Given the description of an element on the screen output the (x, y) to click on. 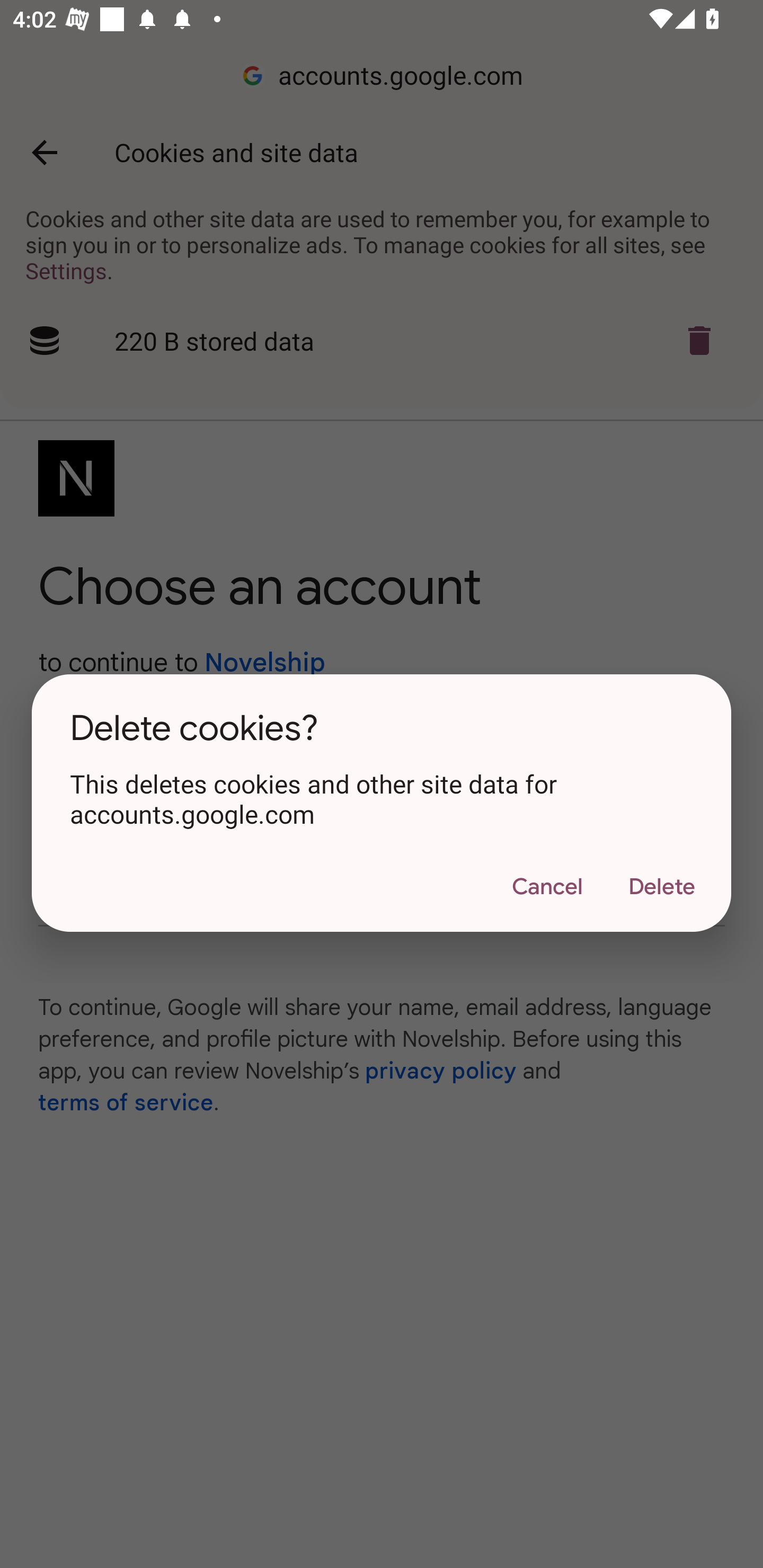
Cancel (546, 887)
Delete (660, 887)
